Given the description of an element on the screen output the (x, y) to click on. 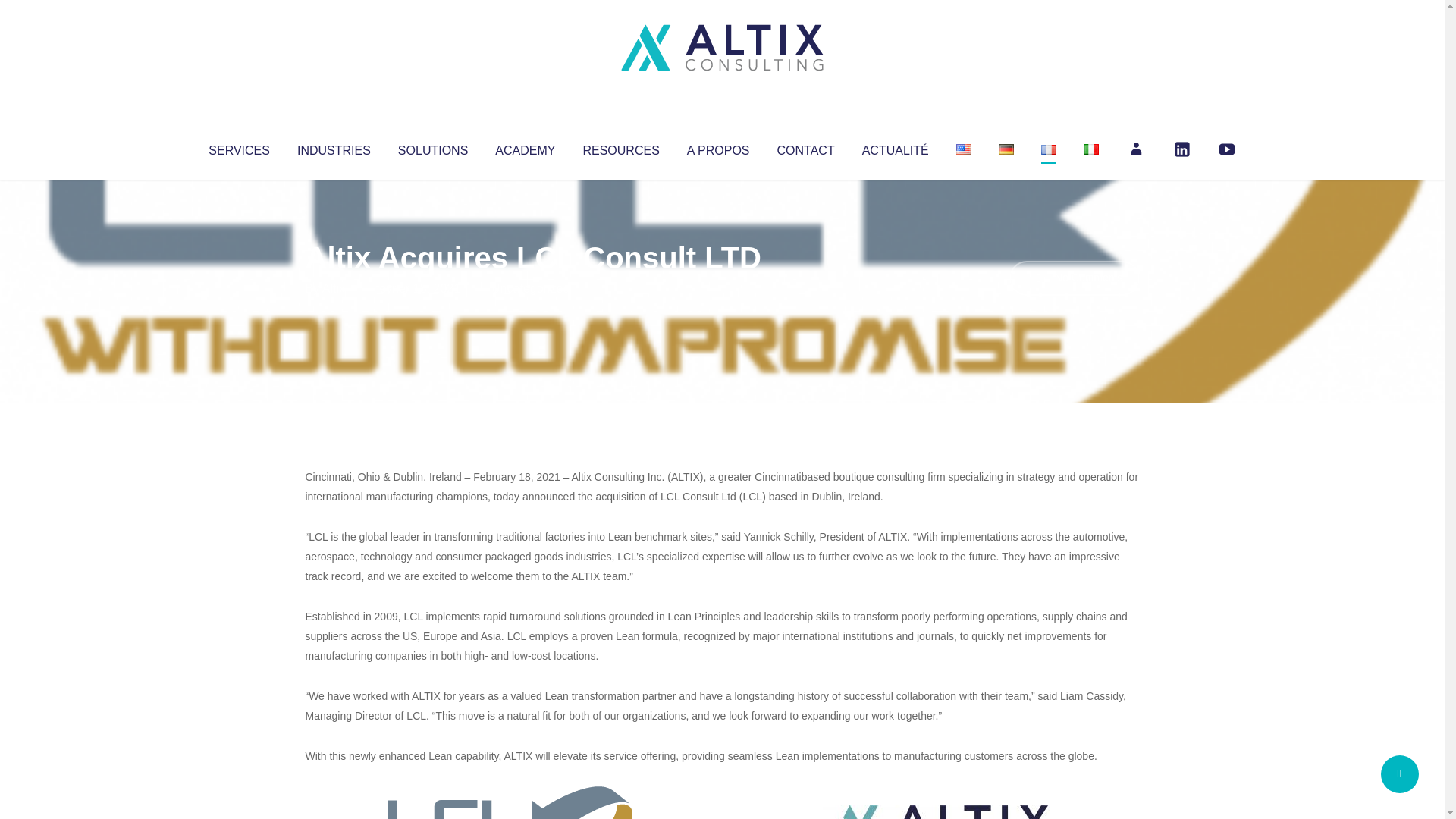
SOLUTIONS (432, 146)
Altix (333, 287)
No Comments (1073, 278)
A PROPOS (718, 146)
ACADEMY (524, 146)
INDUSTRIES (334, 146)
Articles par Altix (333, 287)
SERVICES (238, 146)
Uncategorized (530, 287)
RESOURCES (620, 146)
